Given the description of an element on the screen output the (x, y) to click on. 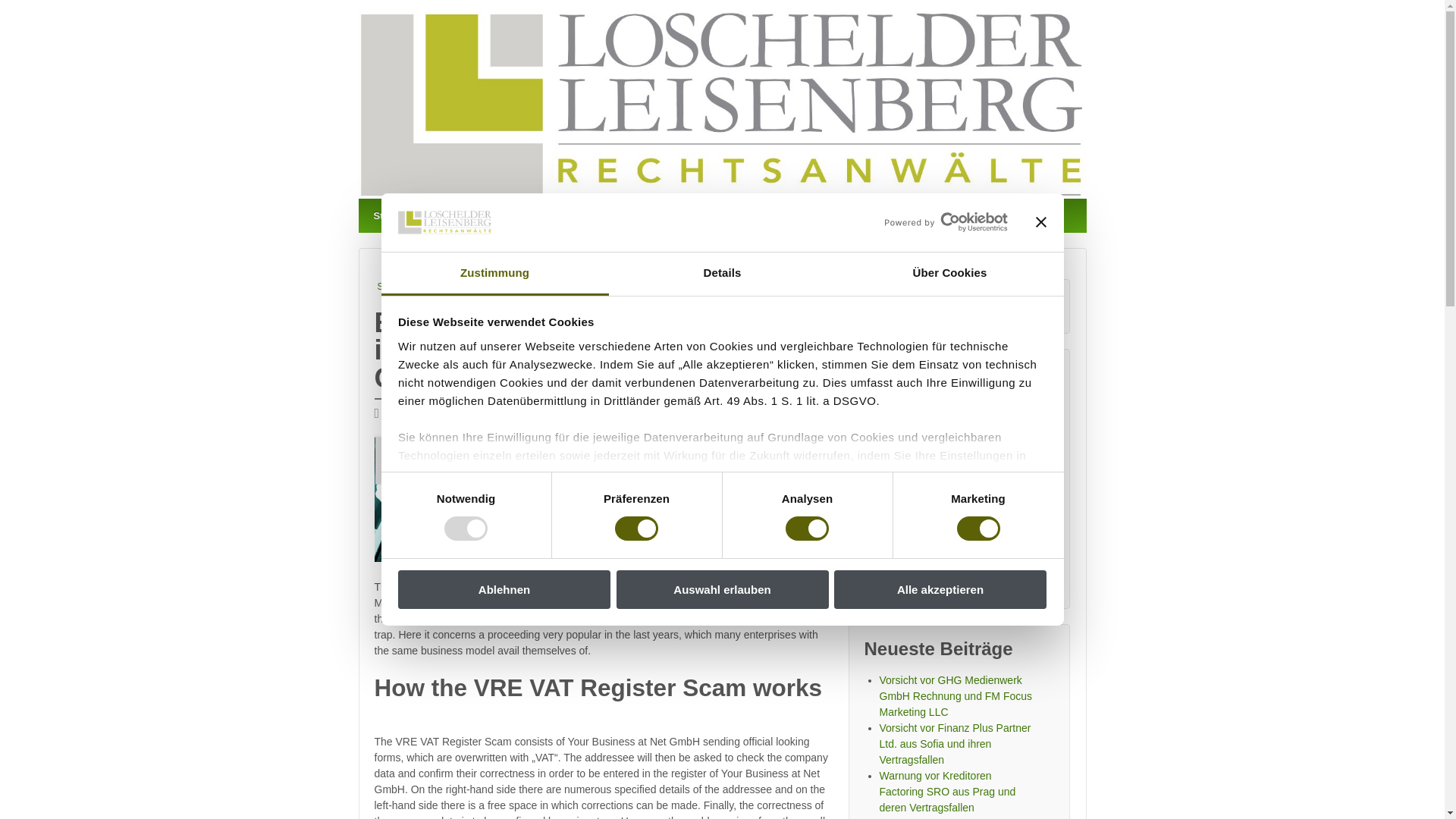
Impressum (705, 215)
Abo-Maschen (481, 215)
Zustimmung (494, 273)
Los (1027, 305)
Startseite (395, 215)
Impressum (898, 527)
Ablehnen (503, 589)
Auswahl erlauben (721, 589)
Alle akzeptieren (940, 589)
Details (721, 273)
